Given the description of an element on the screen output the (x, y) to click on. 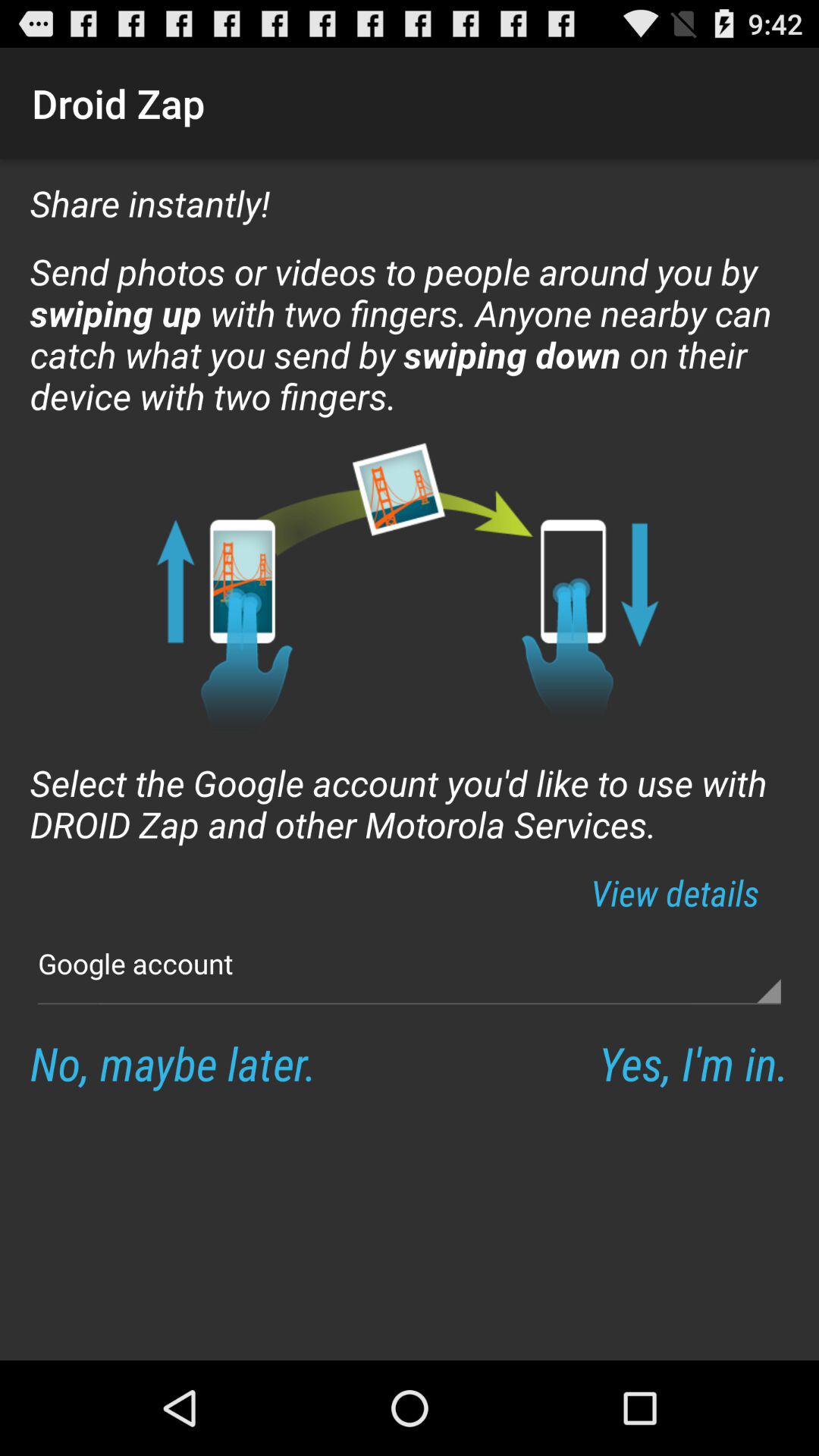
scroll to the yes i m (693, 1062)
